Given the description of an element on the screen output the (x, y) to click on. 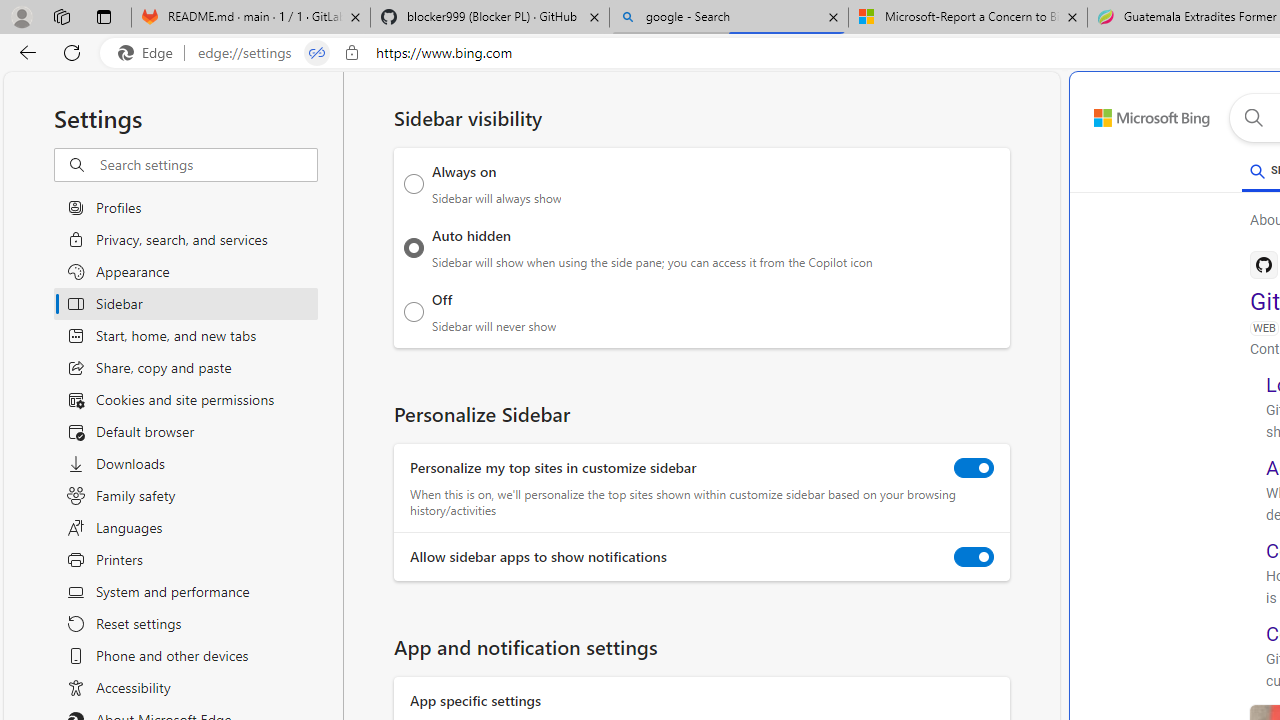
Tabs in split screen (317, 53)
Allow sidebar apps to show notifications (973, 557)
Edge (150, 53)
